Given the description of an element on the screen output the (x, y) to click on. 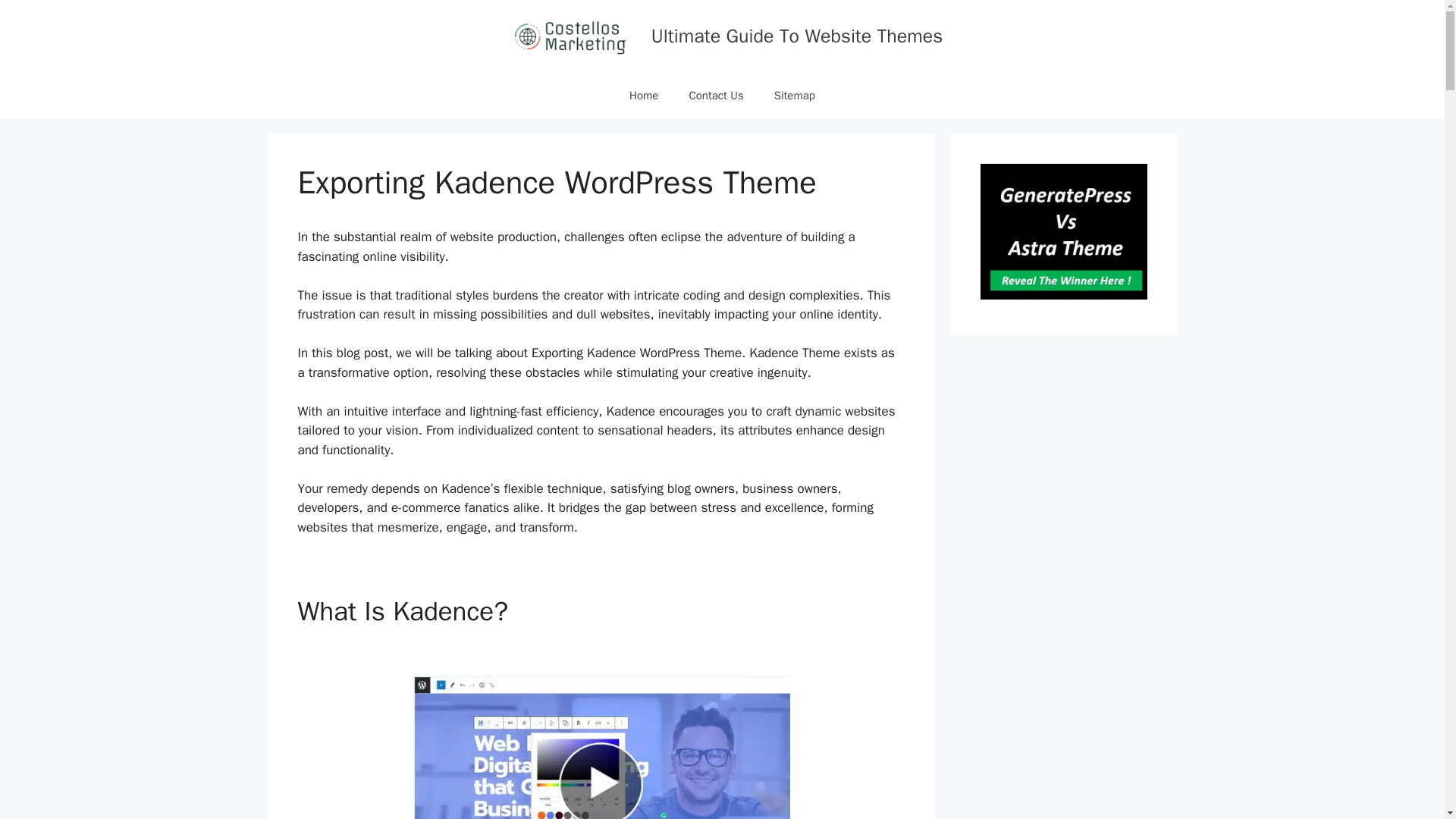
Home (643, 94)
Sitemap (793, 94)
Contact Us (715, 94)
Ultimate Guide To Website Themes (796, 35)
